Given the description of an element on the screen output the (x, y) to click on. 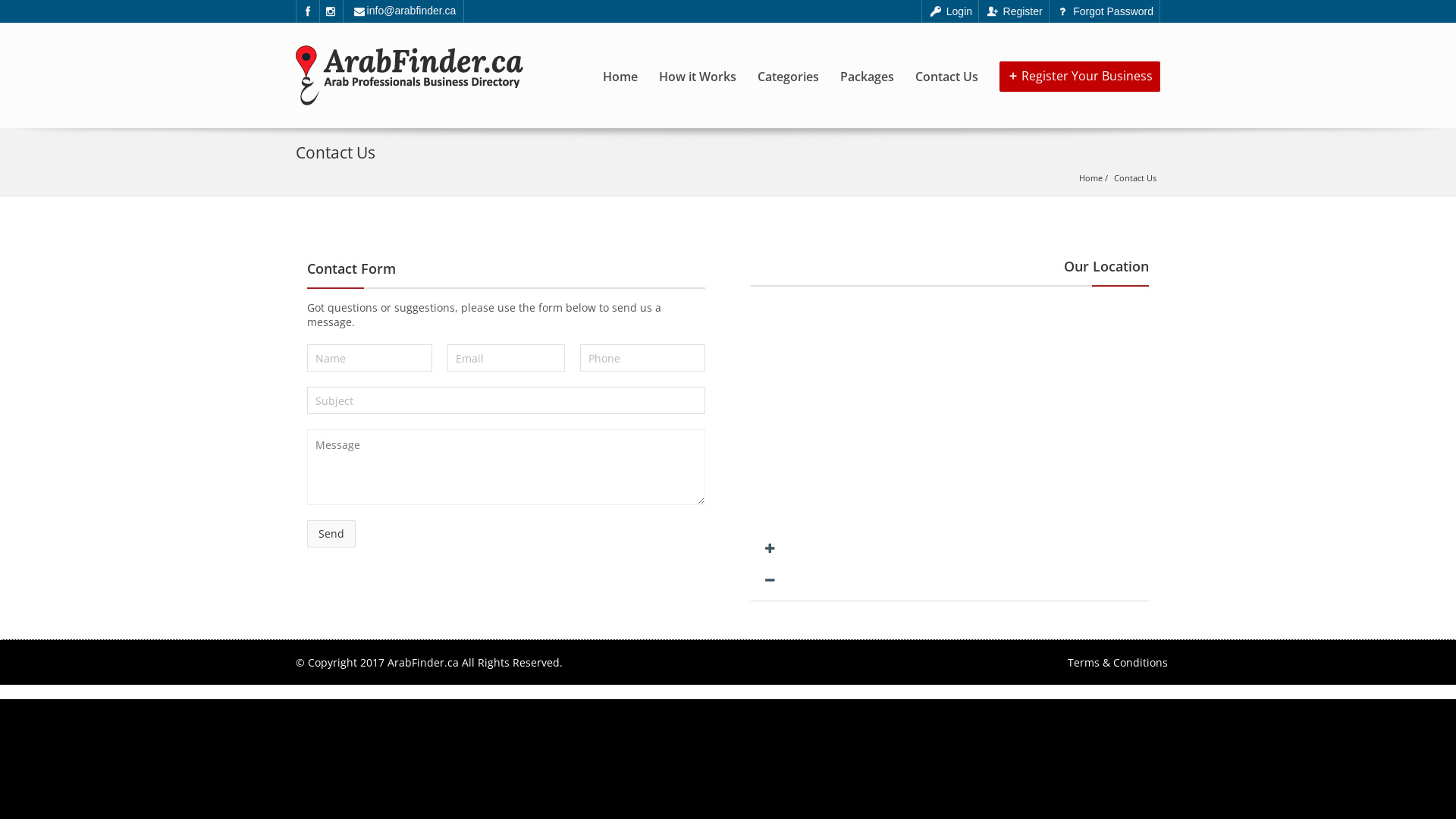
Terms & Conditions Element type: text (1117, 662)
How it Works Element type: text (697, 56)
Send Element type: text (331, 533)
Register Your Business Element type: text (1079, 76)
Login Element type: text (950, 11)
Home Element type: text (619, 56)
Home Element type: text (1090, 177)
Categories Element type: text (788, 56)
Register Element type: text (1013, 11)
info@arabfinder.ca Element type: text (404, 11)
Contact Us Element type: text (946, 56)
Contact Us Element type: text (1134, 177)
Packages Element type: text (867, 56)
Forgot Password Element type: text (1104, 11)
